Given the description of an element on the screen output the (x, y) to click on. 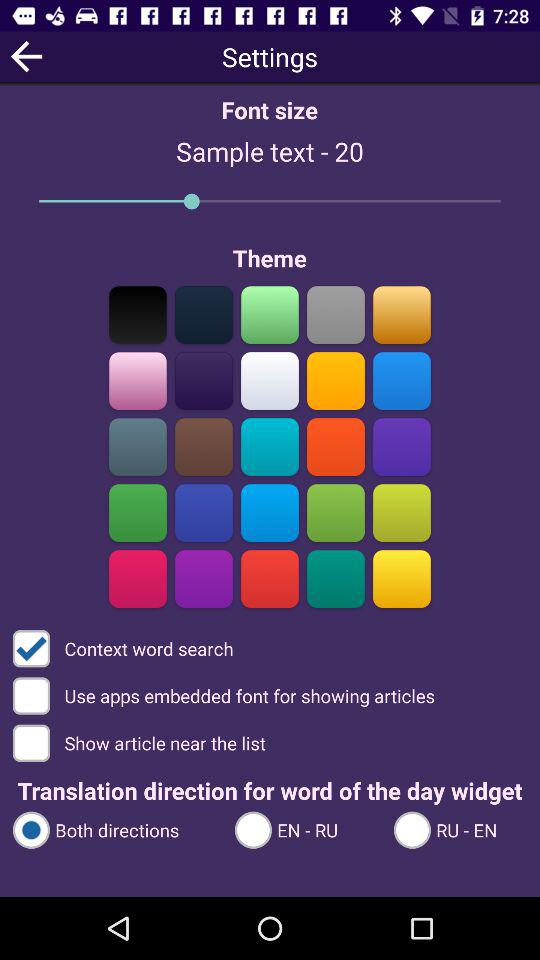
theme change option (203, 380)
